Given the description of an element on the screen output the (x, y) to click on. 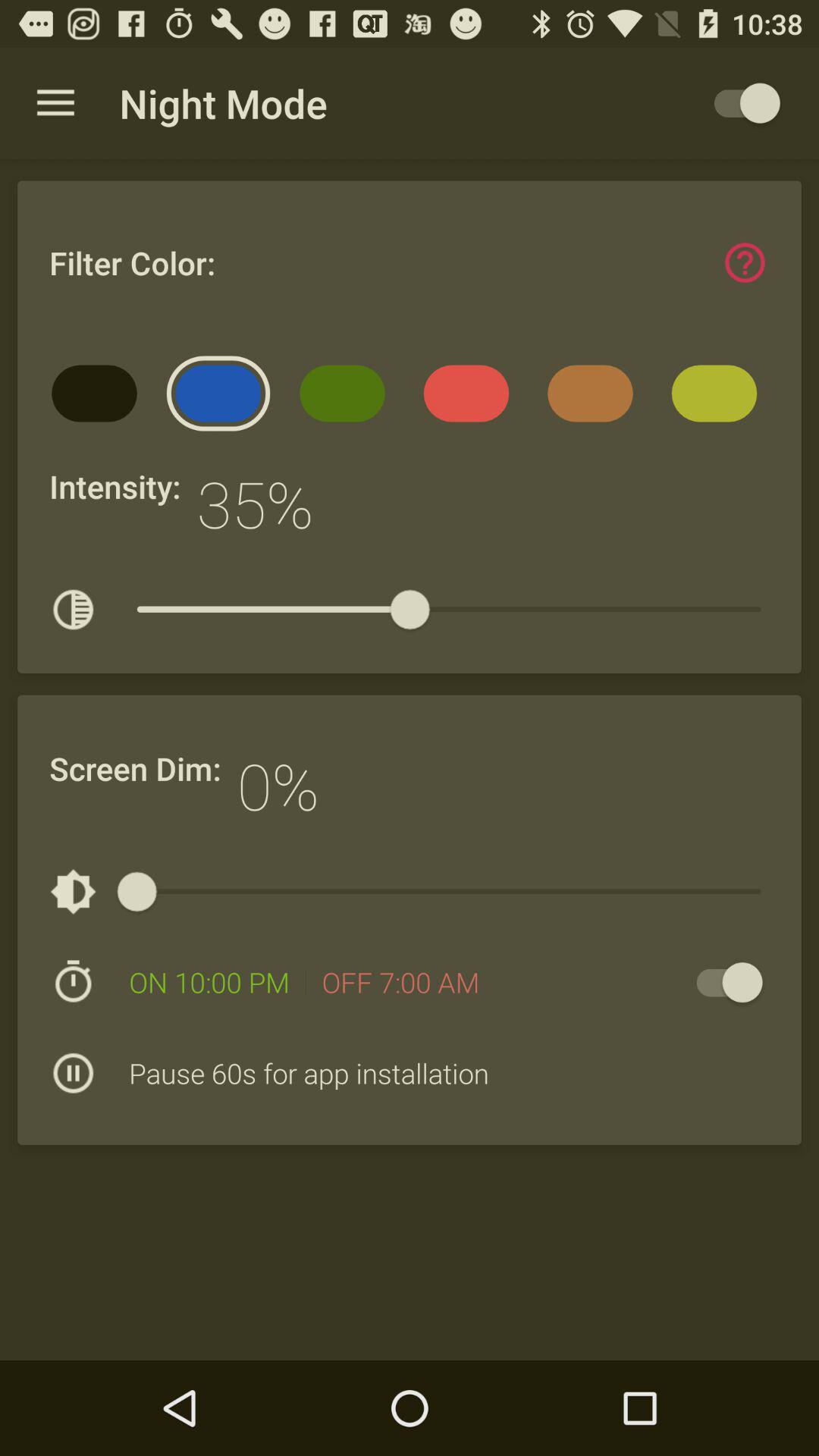
choose off 7 00 icon (400, 982)
